Given the description of an element on the screen output the (x, y) to click on. 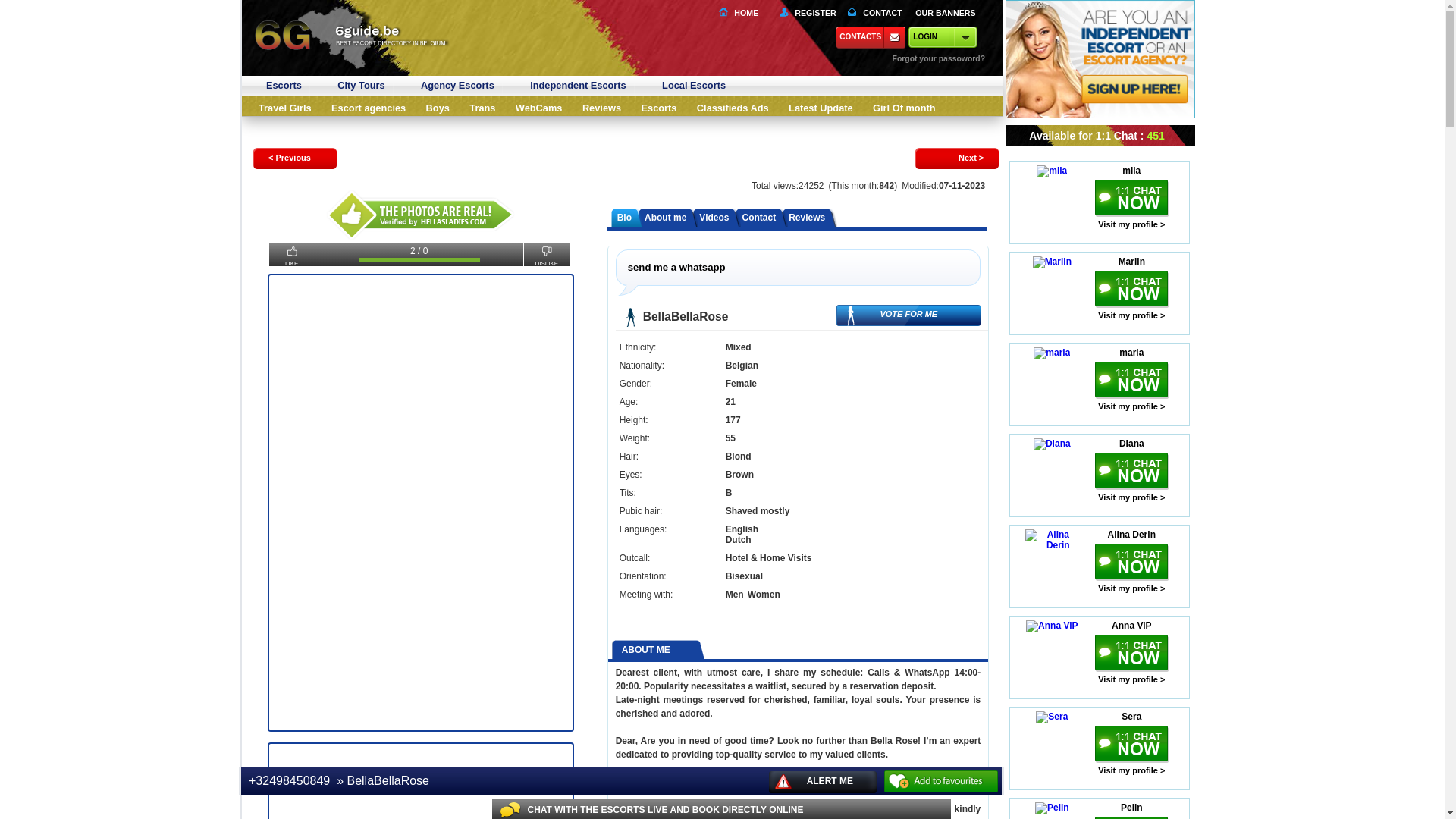
WebCams Element type: text (538, 108)
Visit my profile > Element type: text (1131, 224)
Marlin Element type: text (1131, 265)
Reviews Element type: text (806, 217)
< Previous Element type: text (292, 158)
Travel Girls Element type: text (284, 108)
Visit my profile > Element type: text (1131, 406)
Forgot your passoword? Element type: text (952, 55)
Alina Derin Element type: text (1131, 538)
Escort agencies Element type: text (368, 108)
Next > Element type: text (954, 158)
Bio Element type: text (624, 217)
VOTE FOR ME Element type: text (908, 315)
Visit my profile > Element type: text (1131, 497)
Boys Element type: text (437, 108)
Visit my profile > Element type: text (1131, 315)
Local Escorts Element type: text (693, 85)
Girl Of month Element type: text (903, 108)
Diana Element type: text (1131, 447)
Latest Update Element type: text (820, 108)
Independent Escorts Element type: text (577, 85)
Escorts Element type: text (658, 108)
Sera Element type: text (1131, 720)
mila Element type: text (1131, 174)
Visit my profile > Element type: text (1131, 588)
Anna ViP Element type: text (1131, 629)
Videos Element type: text (713, 217)
Classifieds Ads Element type: text (732, 108)
Visit my profile > Element type: text (1131, 770)
City Tours Element type: text (360, 85)
ALERT ME Element type: text (822, 782)
CONTACTS Element type: text (872, 37)
ABOUT ME Element type: text (655, 651)
Trans Element type: text (481, 108)
Agency Escorts Element type: text (457, 85)
About me Element type: text (665, 217)
OUR BANNERS Element type: text (945, 12)
REGISTER Element type: text (804, 12)
HOME Element type: text (742, 12)
marla Element type: text (1131, 356)
LOGIN Element type: text (945, 37)
Escorts Element type: text (283, 85)
Contact Element type: text (758, 217)
Reviews Element type: text (601, 108)
Visit my profile > Element type: text (1131, 679)
Book Navigation Element type: text (263, 17)
LIKE Element type: text (291, 254)
CONTACT Element type: text (873, 12)
DISLIKE Element type: text (546, 254)
